Given the description of an element on the screen output the (x, y) to click on. 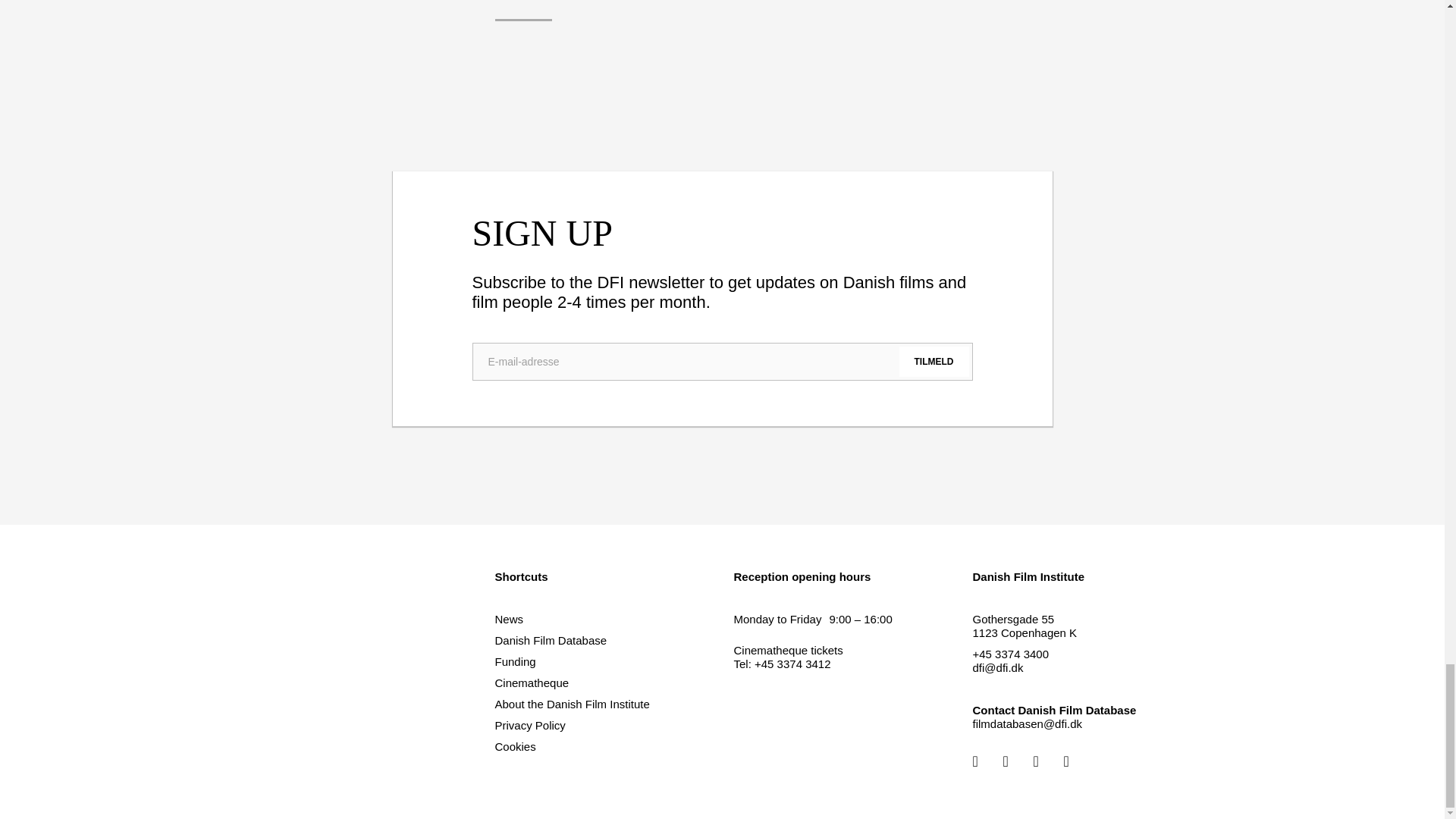
Tilmeld (934, 361)
